Given the description of an element on the screen output the (x, y) to click on. 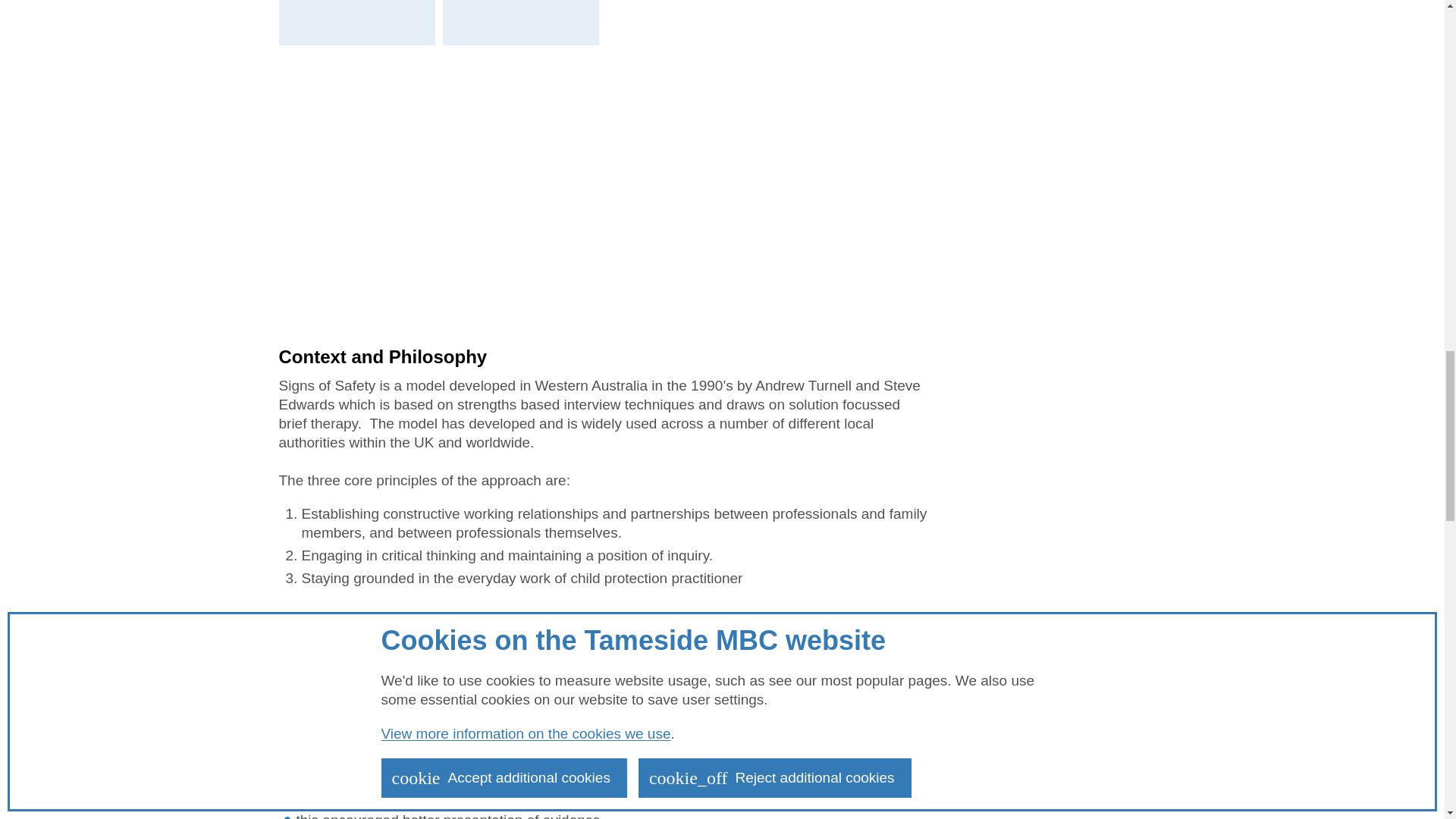
Signs of Safety Video (602, 202)
